Given the description of an element on the screen output the (x, y) to click on. 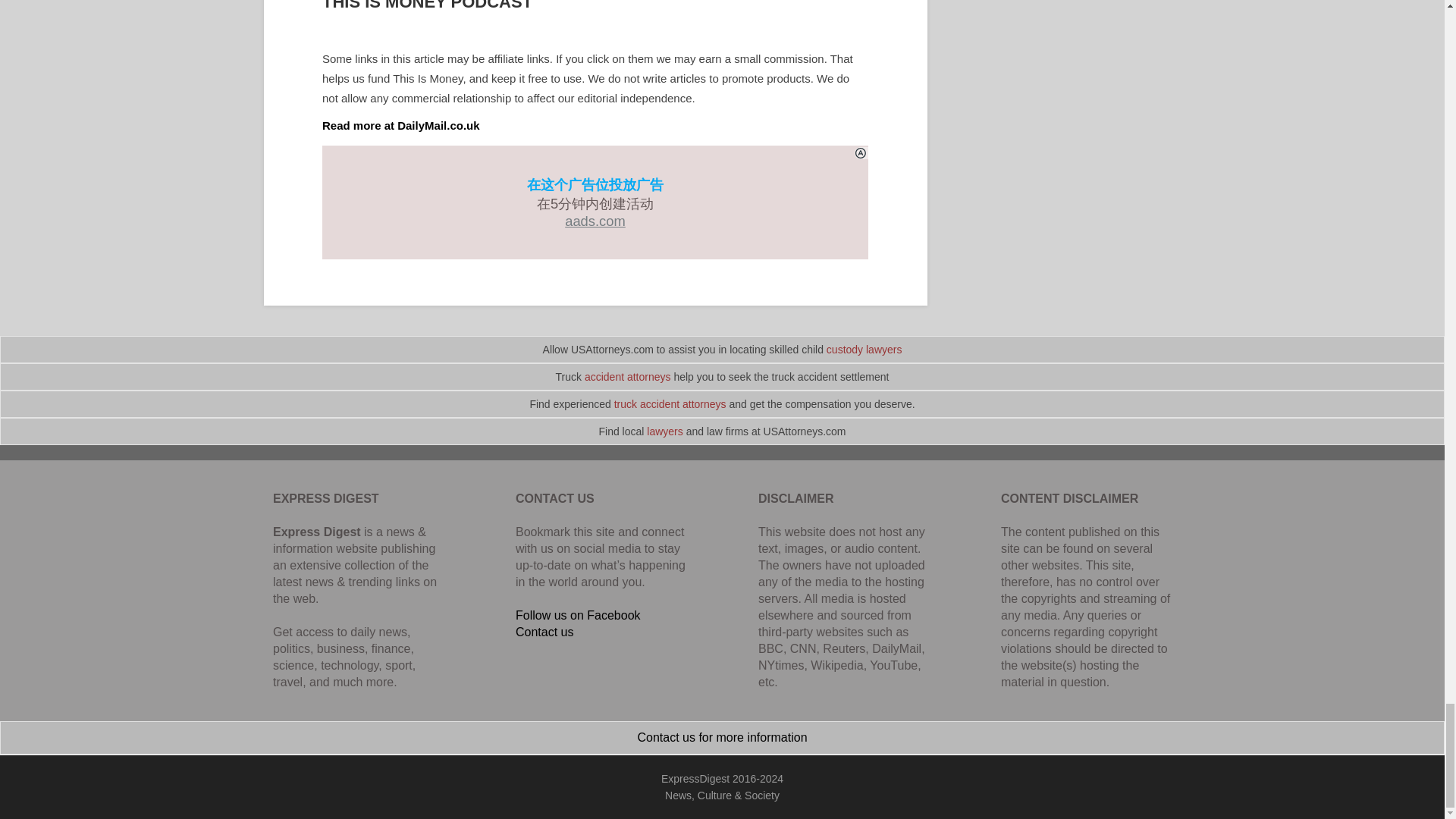
truck accident attorneys (670, 404)
accident attorneys (628, 377)
custody lawyers (864, 349)
lawyers (664, 431)
Read more at DailyMail.co.uk (400, 124)
